Given the description of an element on the screen output the (x, y) to click on. 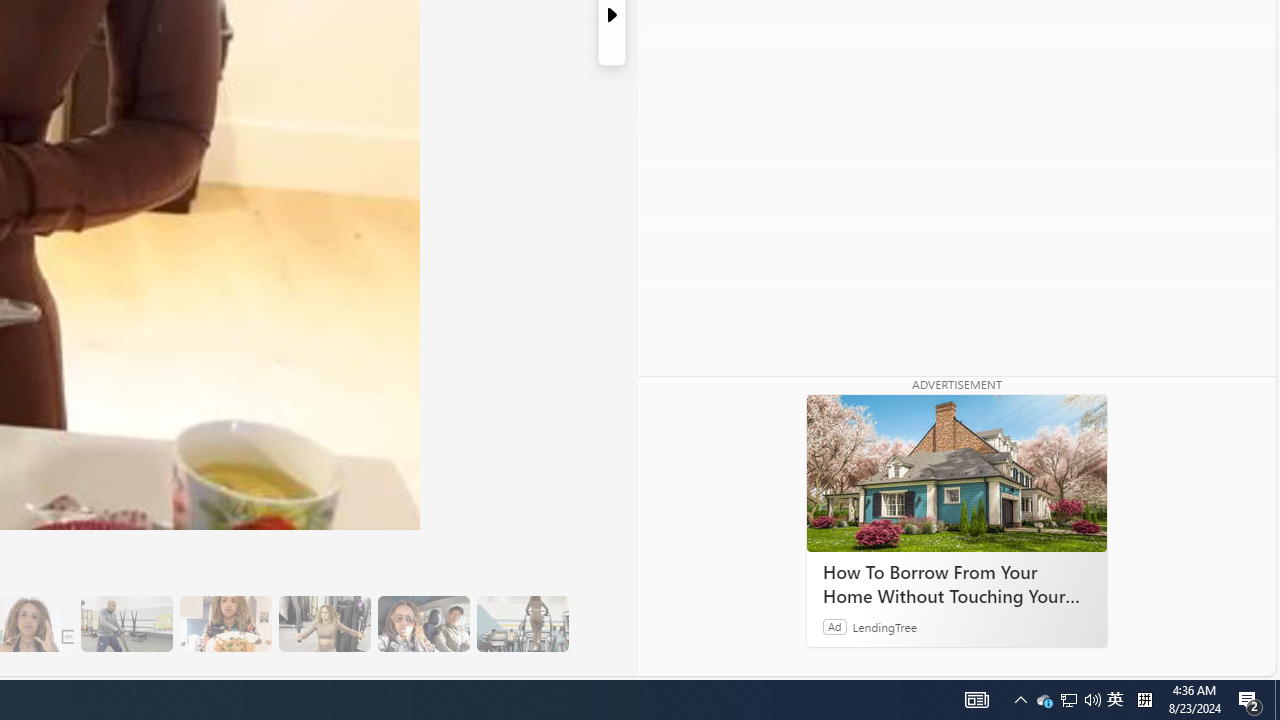
LendingTree (884, 626)
16 The Couple's Program Helps with Accountability (423, 624)
Feedback (1199, 659)
15 They Also Indulge in a Low-Calorie Sweet Treat (324, 624)
13 Her Husband Does Group Cardio Classs (125, 624)
16 The Couple's Program Helps with Accountability (423, 624)
14 They Have Salmon and Veggies for Dinner (225, 624)
Ad (835, 626)
How To Borrow From Your Home Without Touching Your Mortgage (956, 583)
13 Her Husband Does Group Cardio Classs (125, 624)
14 They Have Salmon and Veggies for Dinner (225, 624)
How To Borrow From Your Home Without Touching Your Mortgage (956, 473)
